Given the description of an element on the screen output the (x, y) to click on. 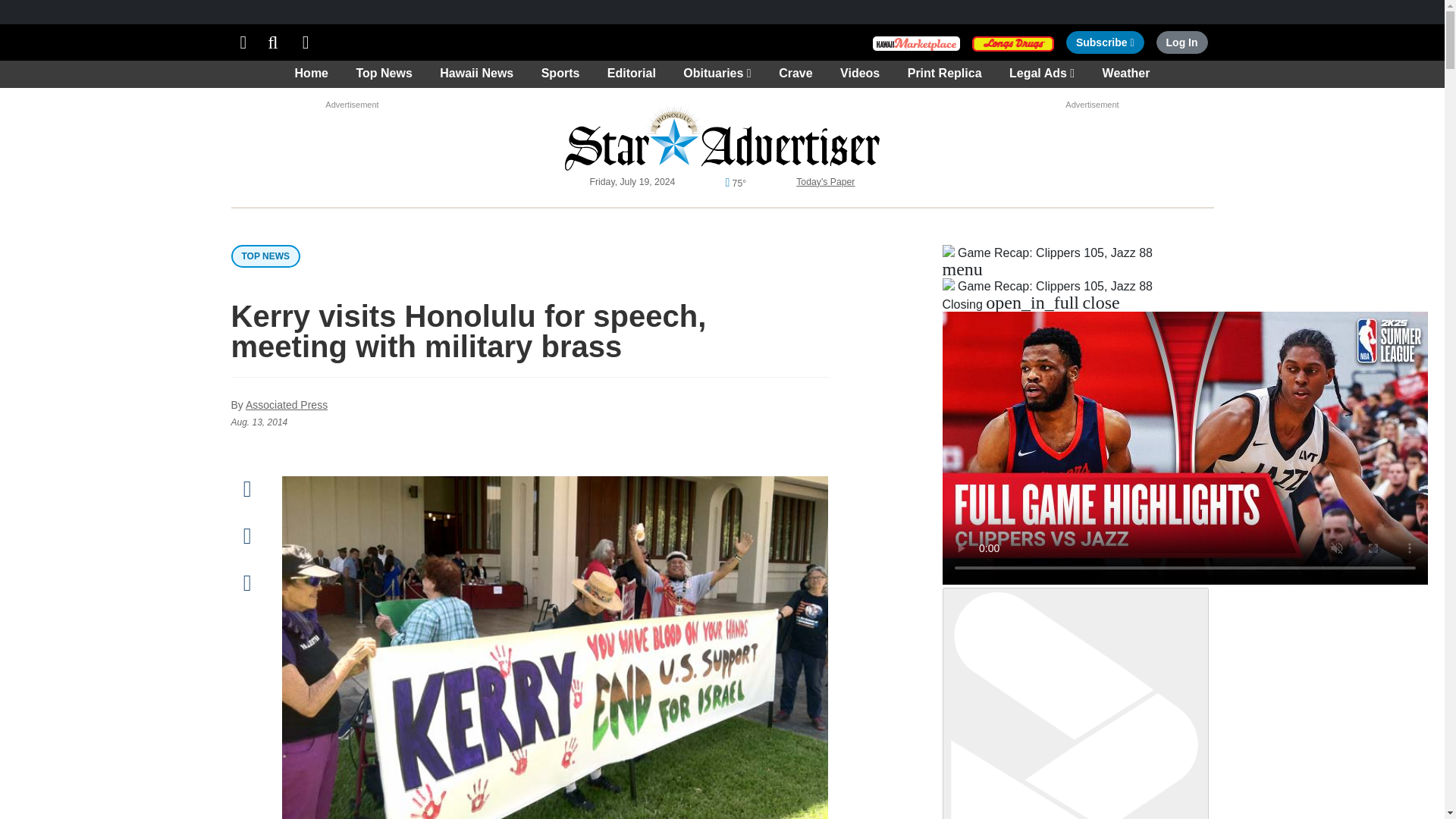
Honolulu Star-Advertiser (721, 136)
Opens in a new tab (1013, 41)
Opens in a new tab (915, 41)
Sections (1104, 42)
Search (243, 42)
Log In (272, 42)
Print Replica (1182, 42)
3rd party ad content (306, 42)
